Given the description of an element on the screen output the (x, y) to click on. 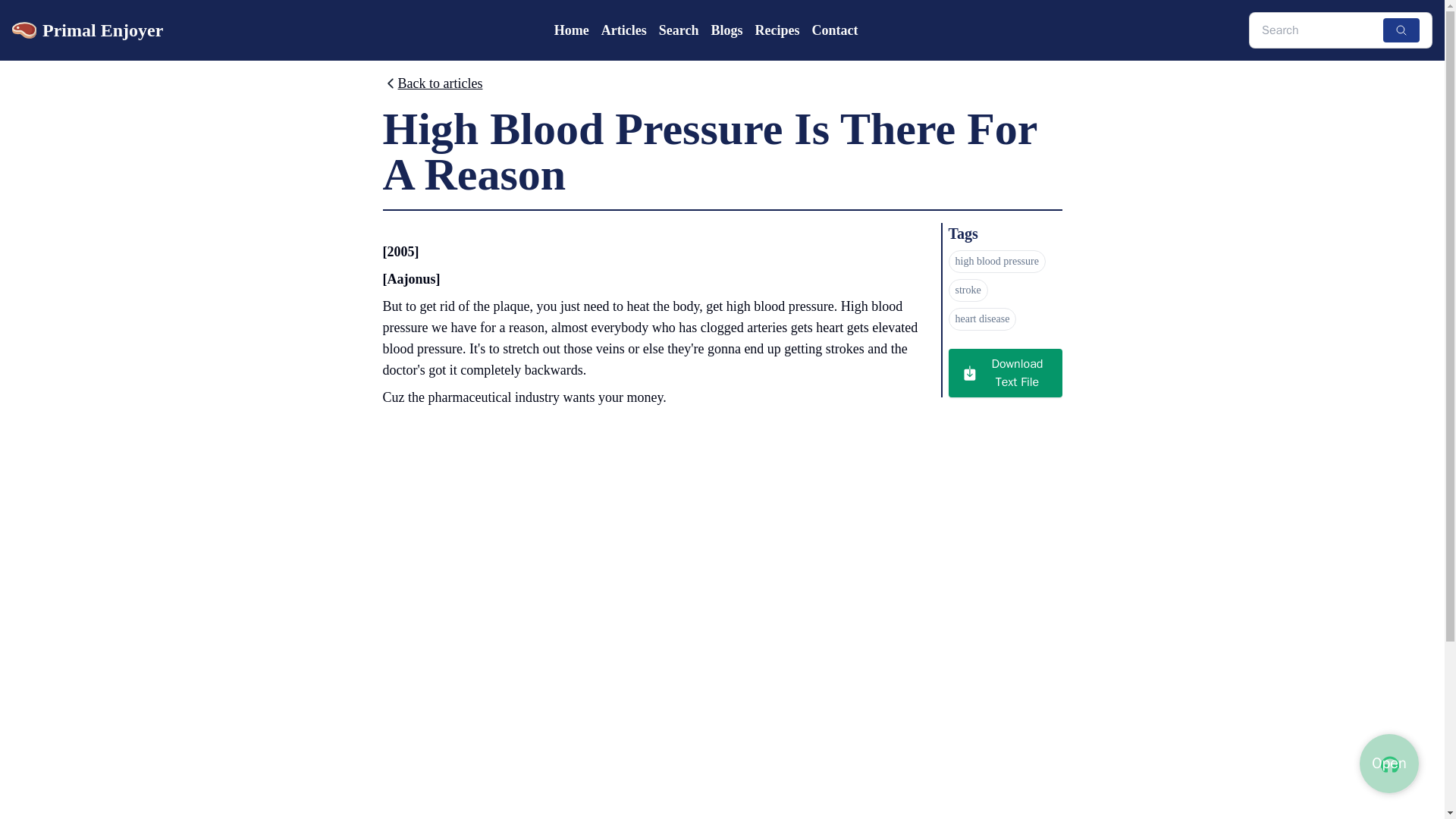
Blogs (726, 29)
Articles (623, 29)
Back to articles (431, 86)
Contact (833, 29)
Primal Enjoyer (87, 30)
Search (678, 29)
Recipes (776, 29)
Download Text File (1004, 372)
Home (571, 29)
